Given the description of an element on the screen output the (x, y) to click on. 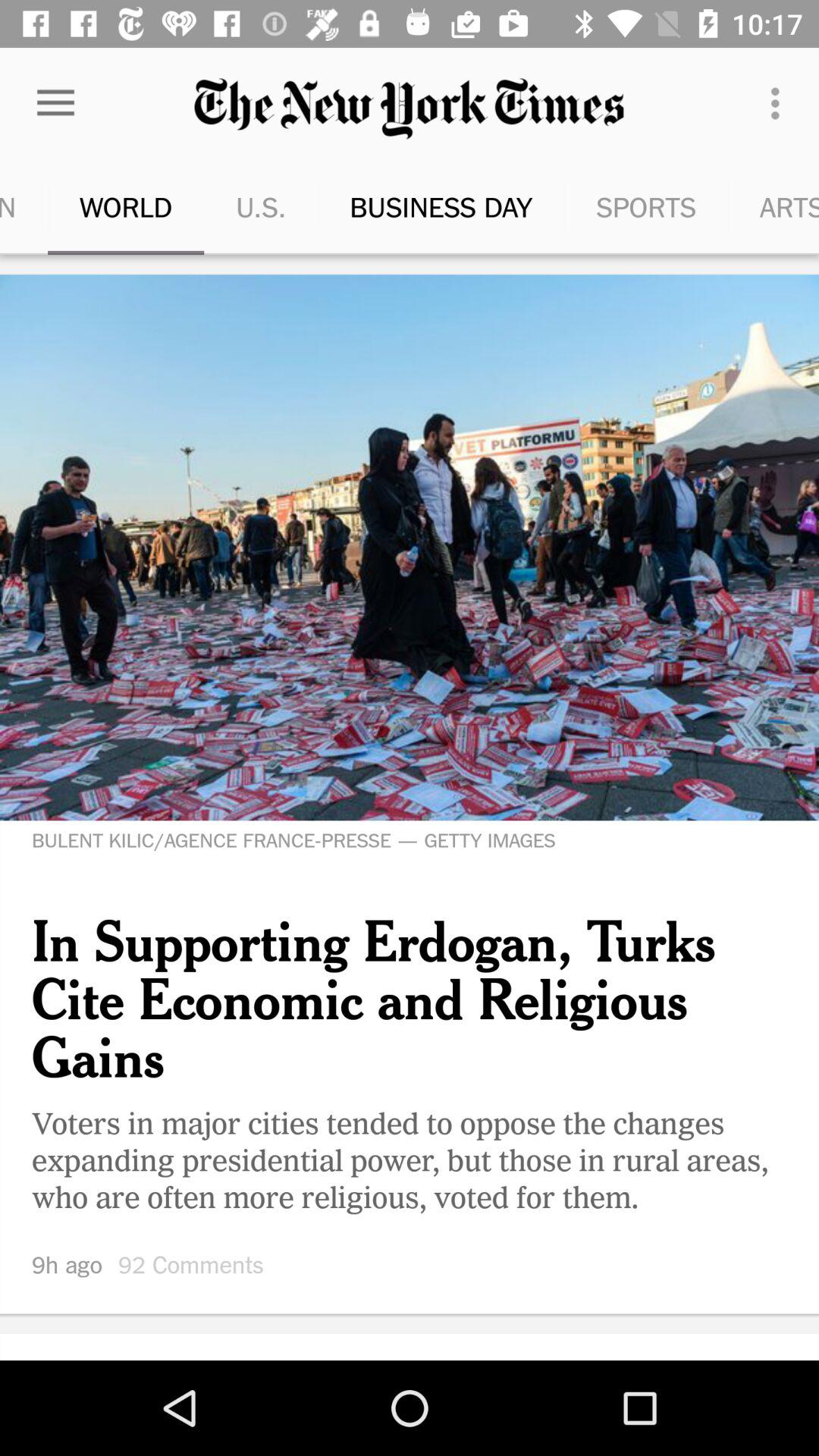
click icon next to the business day (607, 206)
